Given the description of an element on the screen output the (x, y) to click on. 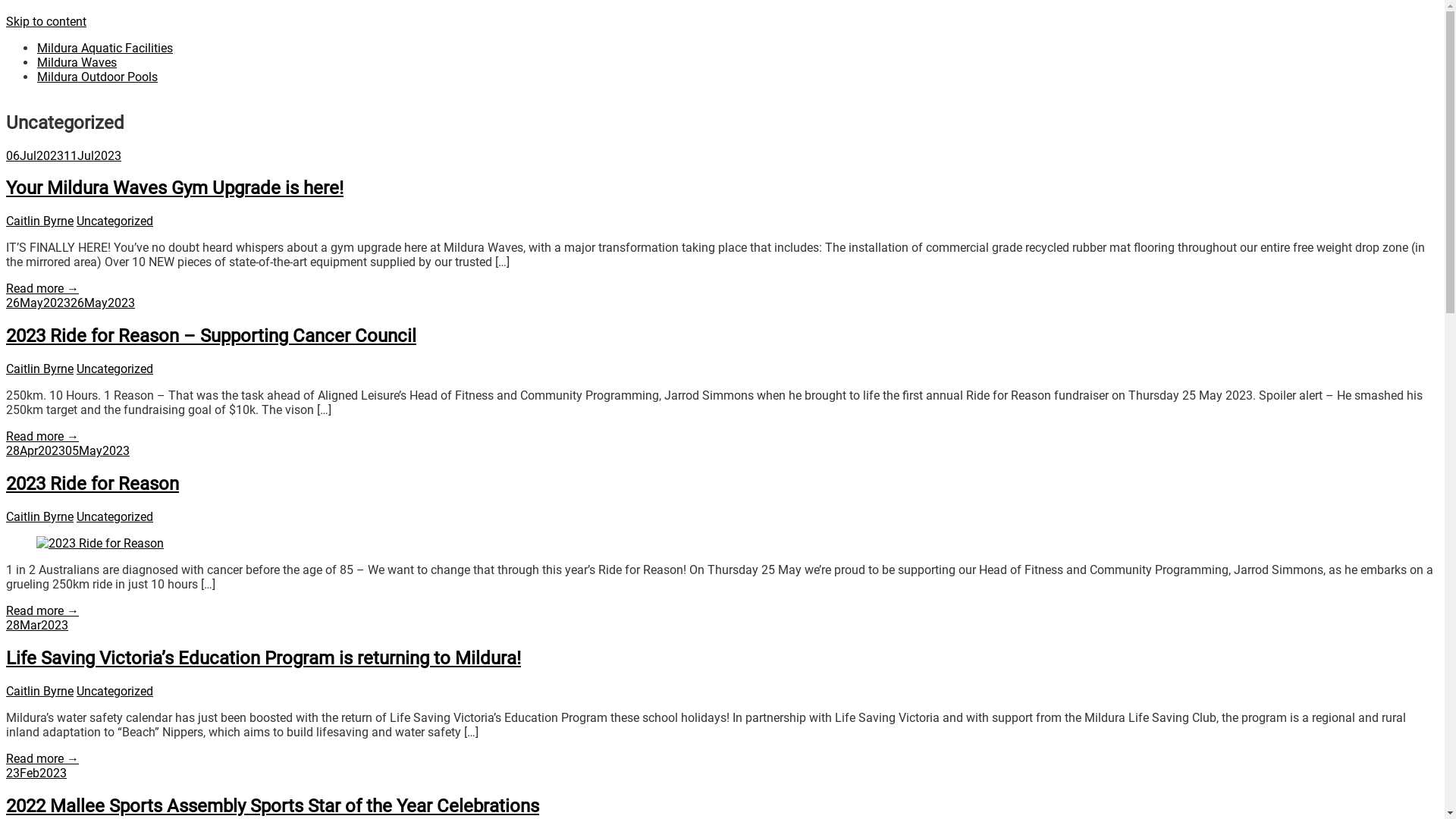
Mildura Outdoor Pools Element type: text (97, 76)
2023 Ride for Reason Element type: hover (99, 543)
Uncategorized Element type: text (114, 220)
Skip to content Element type: text (46, 21)
28Mar2023 Element type: text (37, 625)
Caitlin Byrne Element type: text (39, 220)
06Jul202311Jul2023 Element type: text (63, 155)
Mildura Waves Element type: text (76, 62)
23Feb2023 Element type: text (36, 772)
Uncategorized Element type: text (114, 516)
Your Mildura Waves Gym Upgrade is here! Element type: text (174, 187)
Caitlin Byrne Element type: text (39, 691)
Uncategorized Element type: text (114, 691)
26May202326May2023 Element type: text (70, 302)
Mildura Aquatic Facilities Element type: text (104, 47)
Caitlin Byrne Element type: text (39, 516)
Caitlin Byrne Element type: text (39, 368)
Uncategorized Element type: text (114, 368)
28Apr202305May2023 Element type: text (67, 450)
2023 Ride for Reason Element type: text (92, 483)
